Given the description of an element on the screen output the (x, y) to click on. 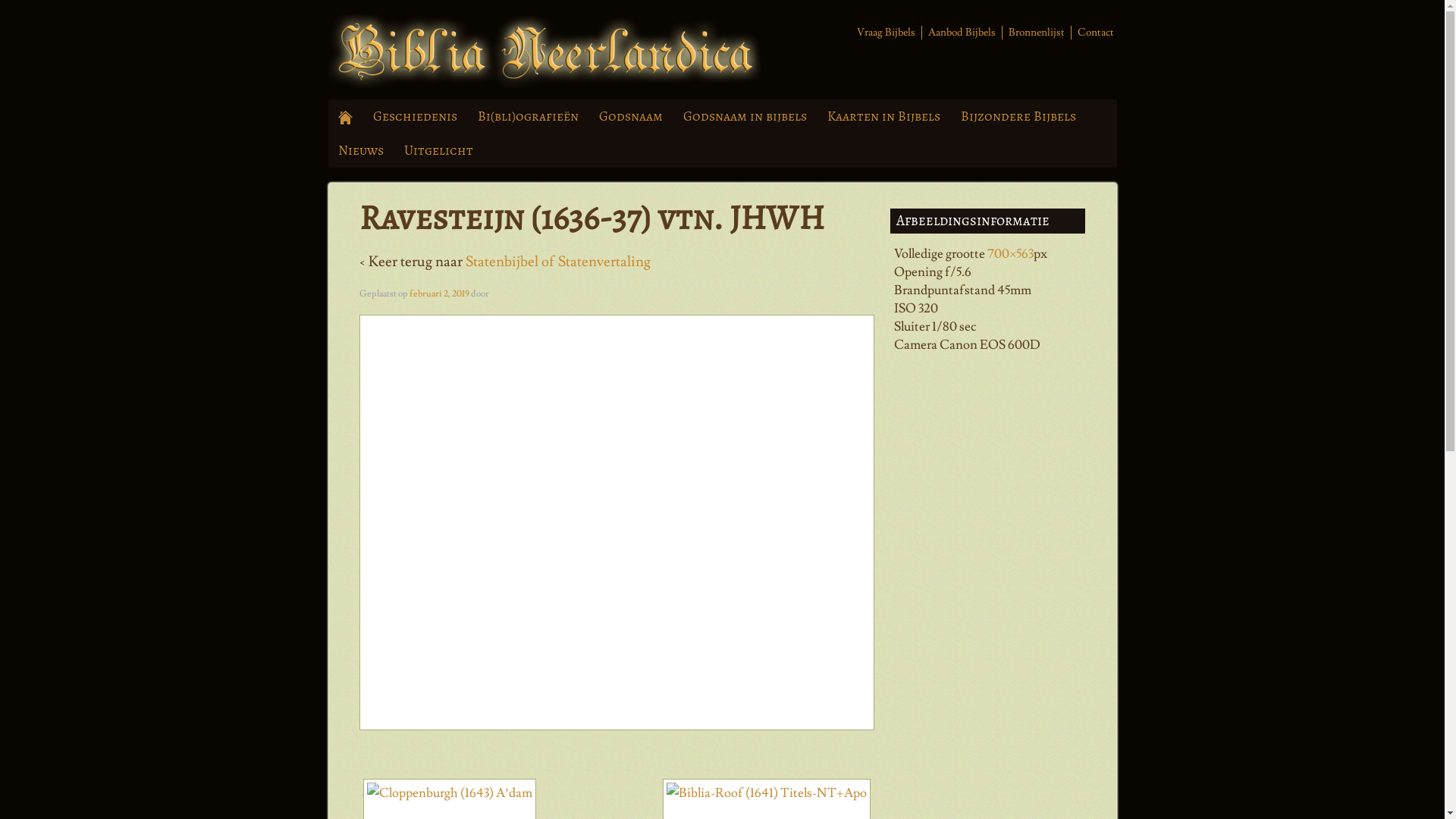
Geschiedenis Element type: text (414, 116)
februari 2, 2019 Element type: text (439, 293)
Uitgelicht Element type: text (438, 150)
Contact Element type: text (1093, 32)
Kaarten in Bijbels Element type: text (883, 116)
Bronnenlijst Element type: text (1033, 32)
Godsnaam Element type: text (630, 116)
Godsnaam in bijbels Element type: text (745, 116)
Bijzondere Bijbels Element type: text (1018, 116)
Nieuws Element type: text (360, 150)
Vraag Bijbels Element type: text (884, 32)
Aanbod Bijbels Element type: text (958, 32)
Statenbijbel of Statenvertaling Element type: text (557, 261)
